Given the description of an element on the screen output the (x, y) to click on. 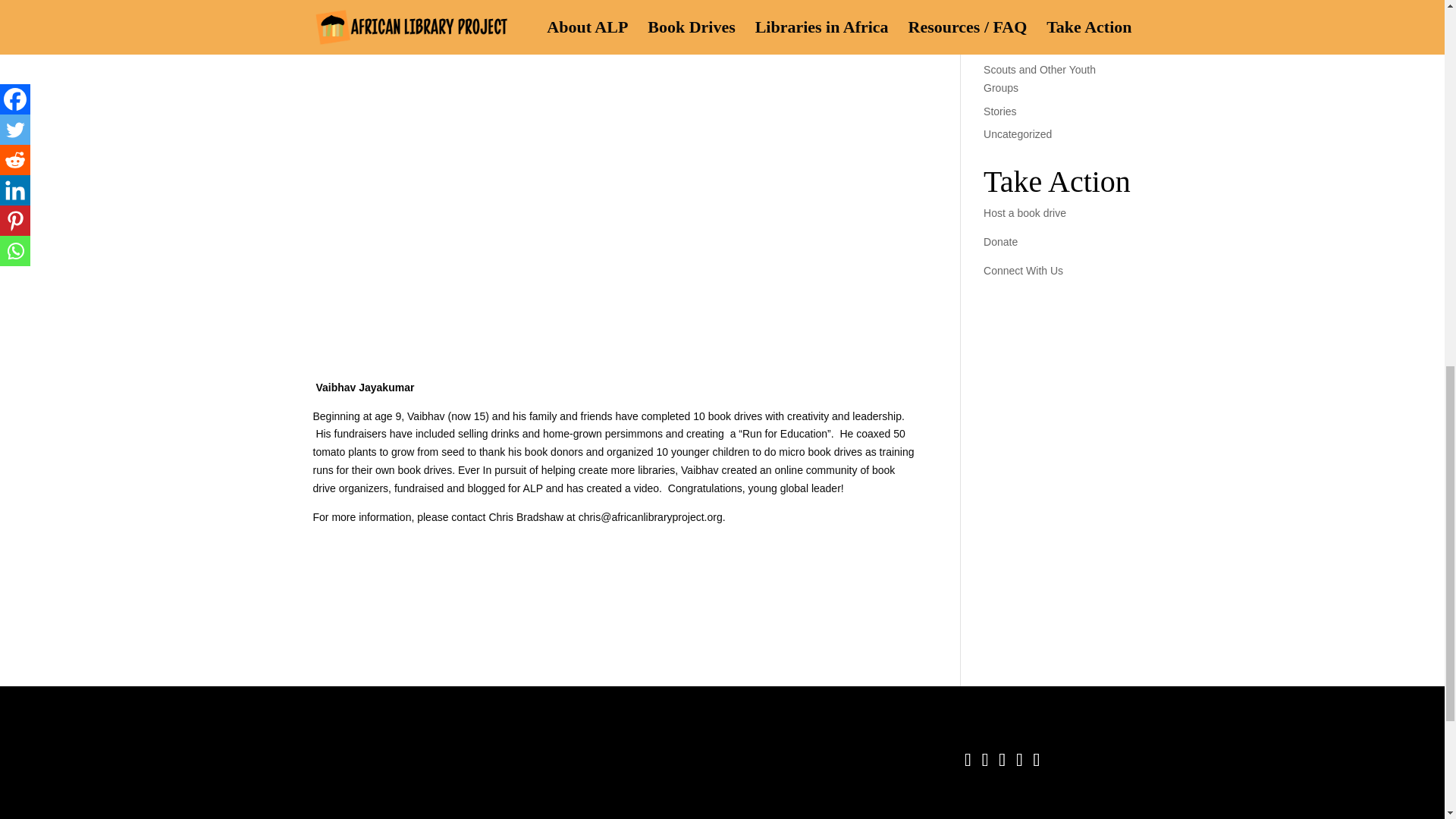
Press (997, 2)
Retirees (1003, 22)
School (1000, 46)
Stories (1000, 111)
Scouts and Other Youth Groups (1040, 78)
Uncategorized (1017, 133)
Donate (1000, 241)
Connect With Us (1023, 270)
Host a book drive (1024, 213)
